Given the description of an element on the screen output the (x, y) to click on. 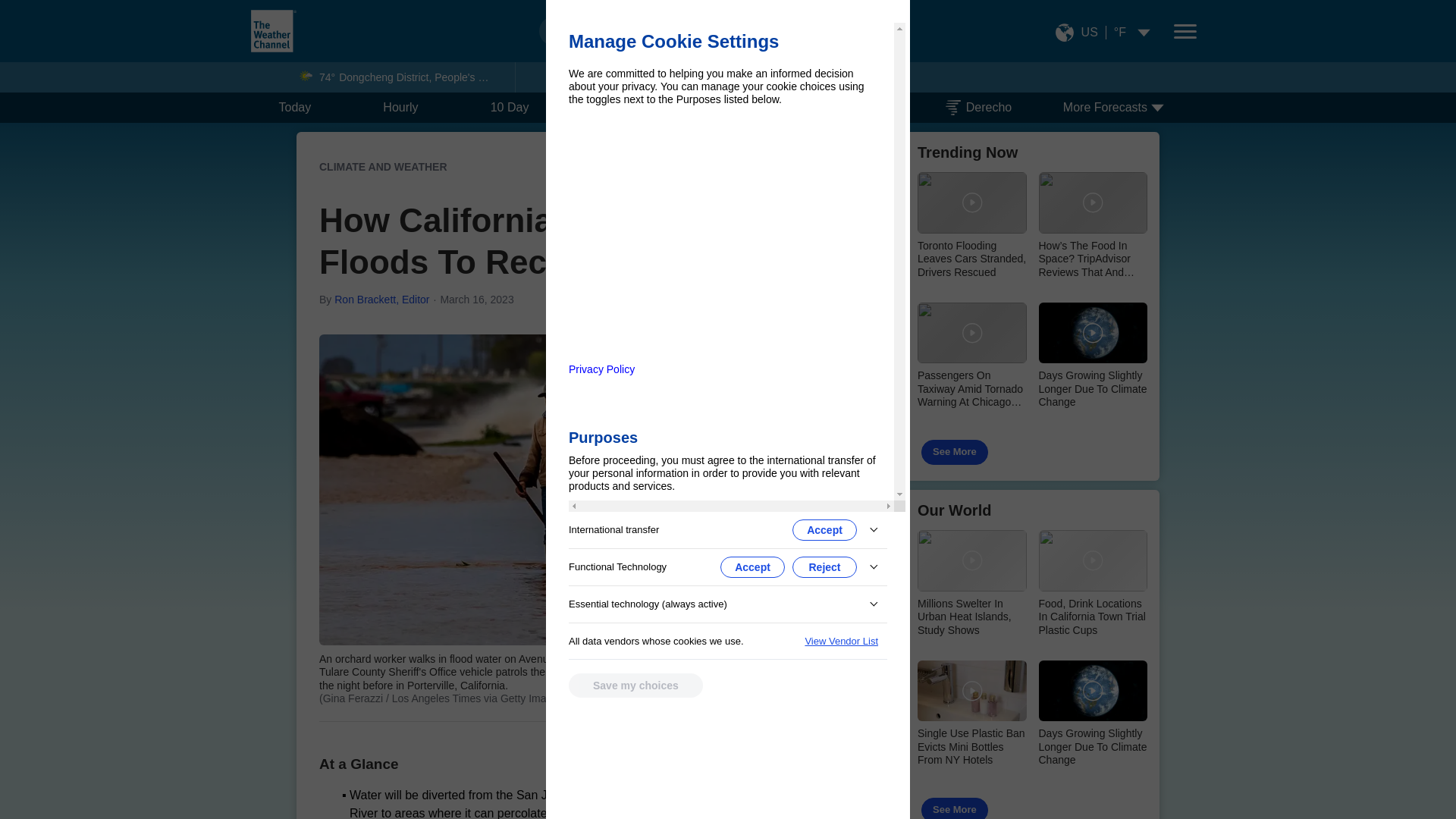
The Weather Channel (273, 31)
Dongcheng District, People's Republic of China (421, 77)
Ron Brackett, Editor (381, 299)
Weekend (626, 107)
Sign up for the Morning Brief email newsletter (711, 773)
Monthly (745, 107)
Hourly (400, 107)
The Weather Channel (273, 30)
10 Day (509, 107)
Today (295, 107)
Derecho (978, 107)
Radar (855, 107)
More Forecasts (1130, 107)
